Given the description of an element on the screen output the (x, y) to click on. 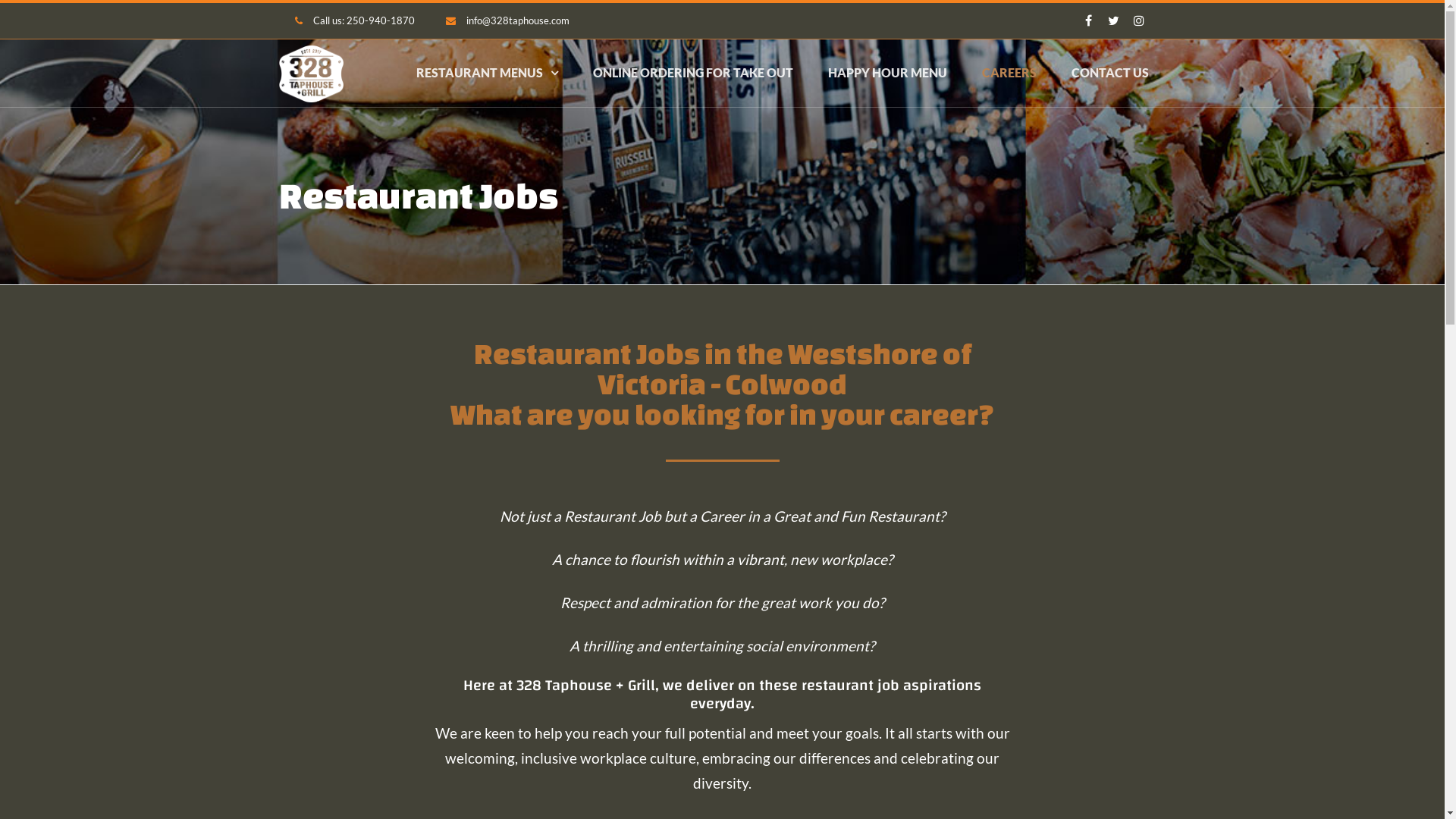
RESTAURANT MENUS Element type: text (486, 72)
CONTACT US Element type: text (1109, 72)
250-940-1870 Element type: text (379, 20)
info@328taphouse.com Element type: text (516, 20)
HAPPY HOUR MENU Element type: text (887, 72)
ONLINE ORDERING FOR TAKE OUT Element type: text (693, 72)
CAREERS Element type: text (1008, 72)
